Given the description of an element on the screen output the (x, y) to click on. 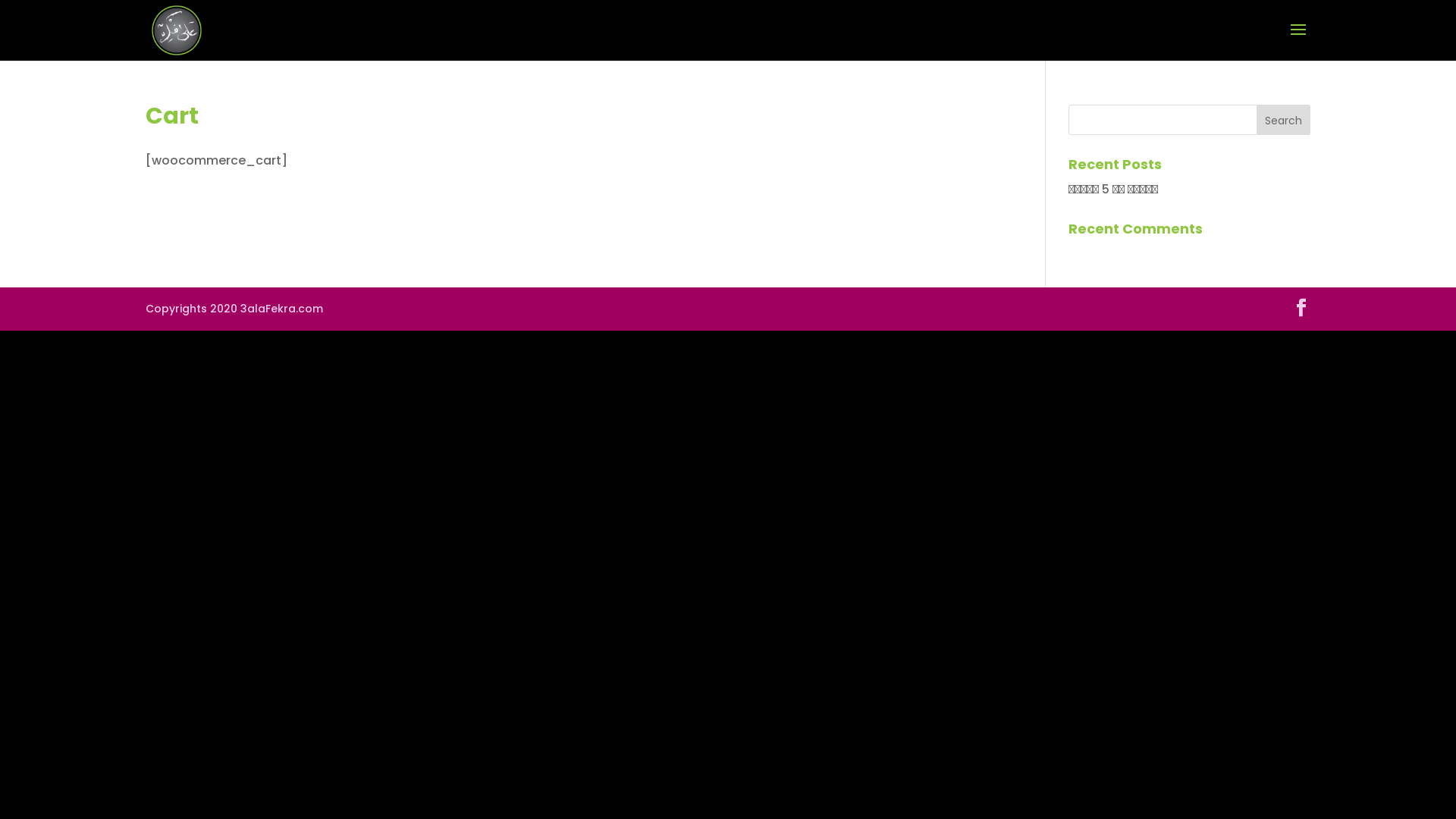
Search Element type: text (1283, 119)
